Given the description of an element on the screen output the (x, y) to click on. 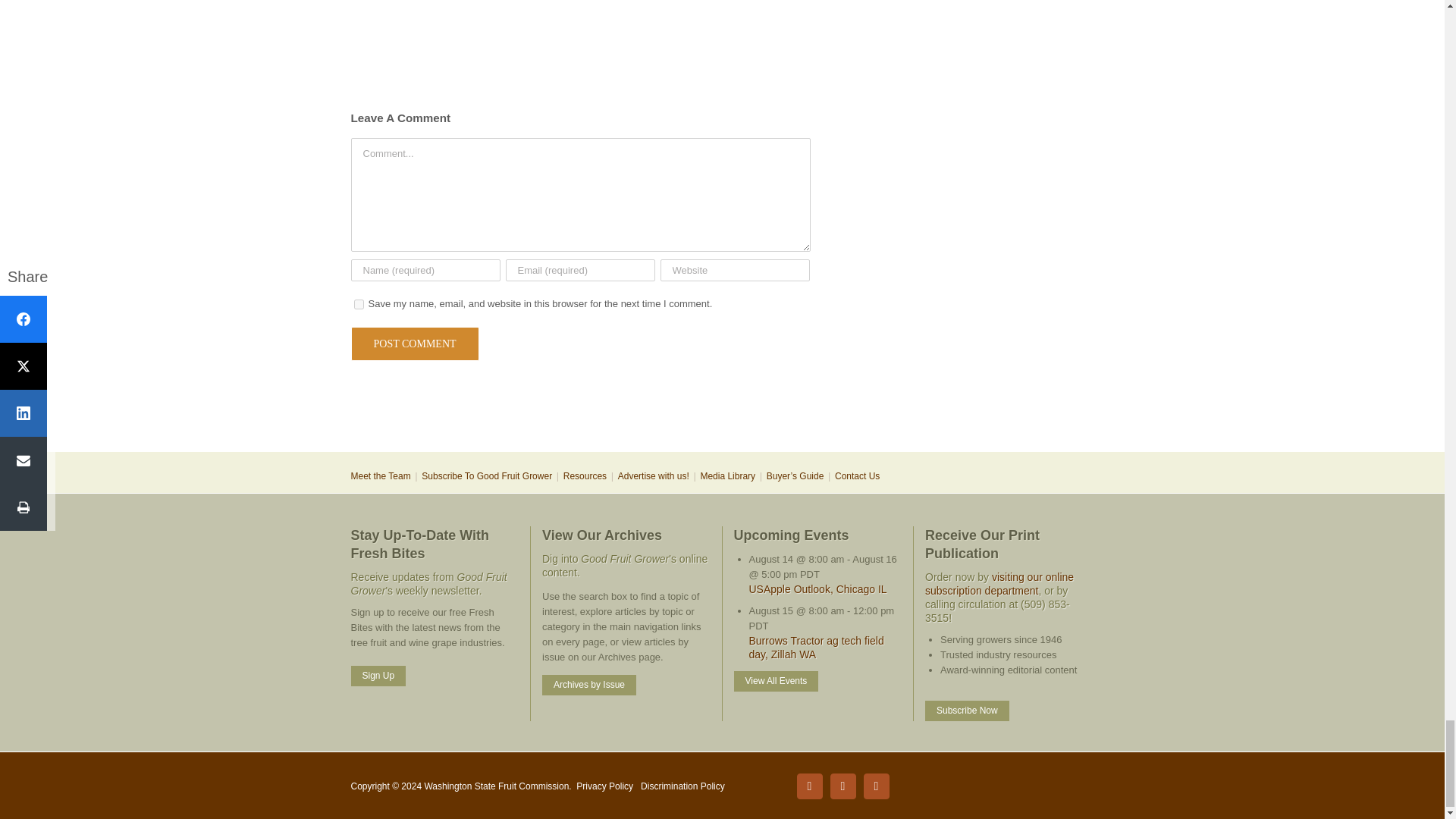
Post Comment (414, 343)
yes (357, 304)
3rd party ad content (721, 401)
